Given the description of an element on the screen output the (x, y) to click on. 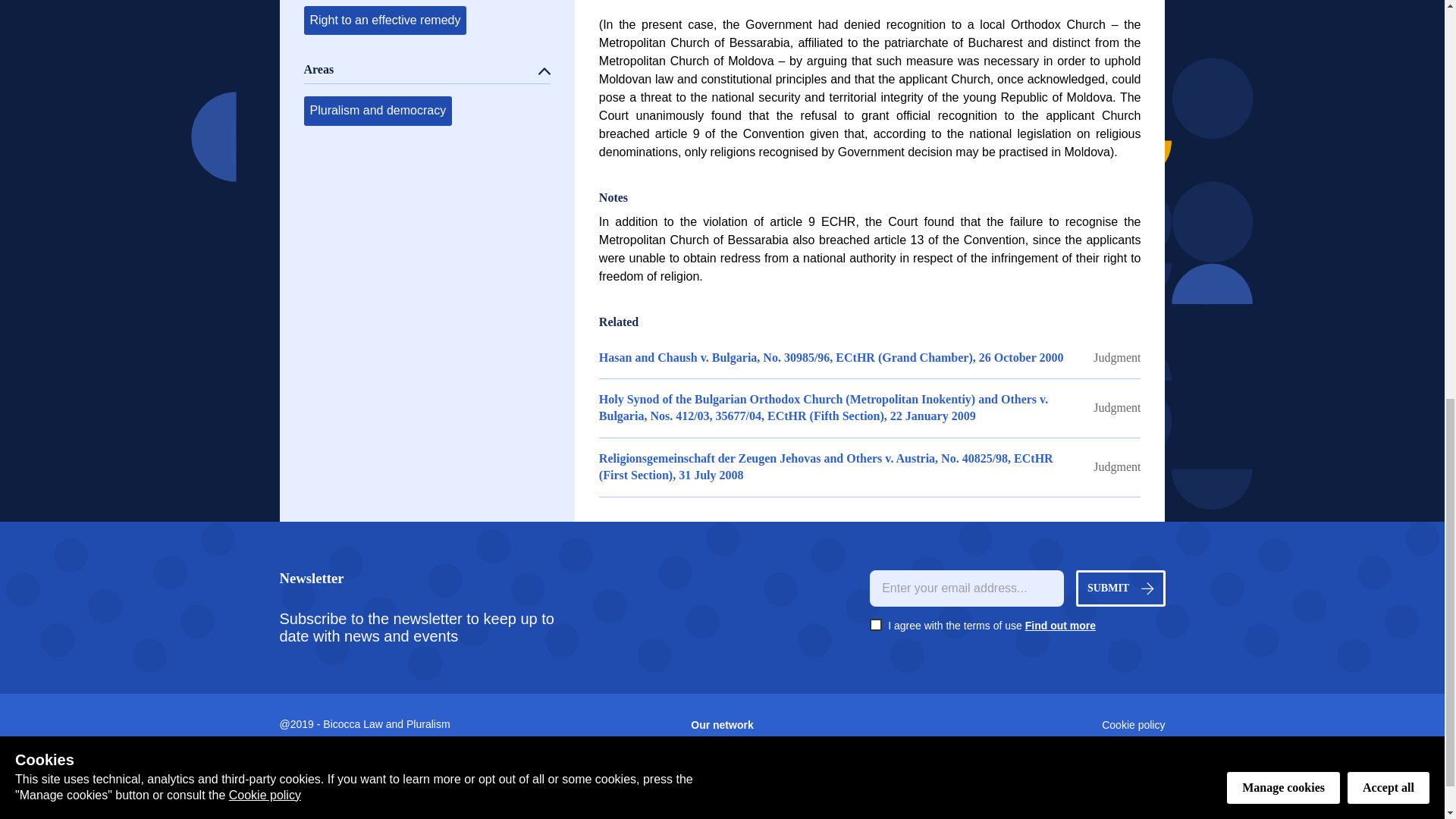
Right to an effective remedy (383, 20)
SUBMIT (1120, 588)
Archiui (355, 806)
Twitter (1016, 767)
Facebook (1016, 782)
Our network (722, 725)
Cookie policy (1016, 725)
Find out more (1060, 625)
Pluralism and democracy (376, 110)
Linkedin (1016, 752)
